Given the description of an element on the screen output the (x, y) to click on. 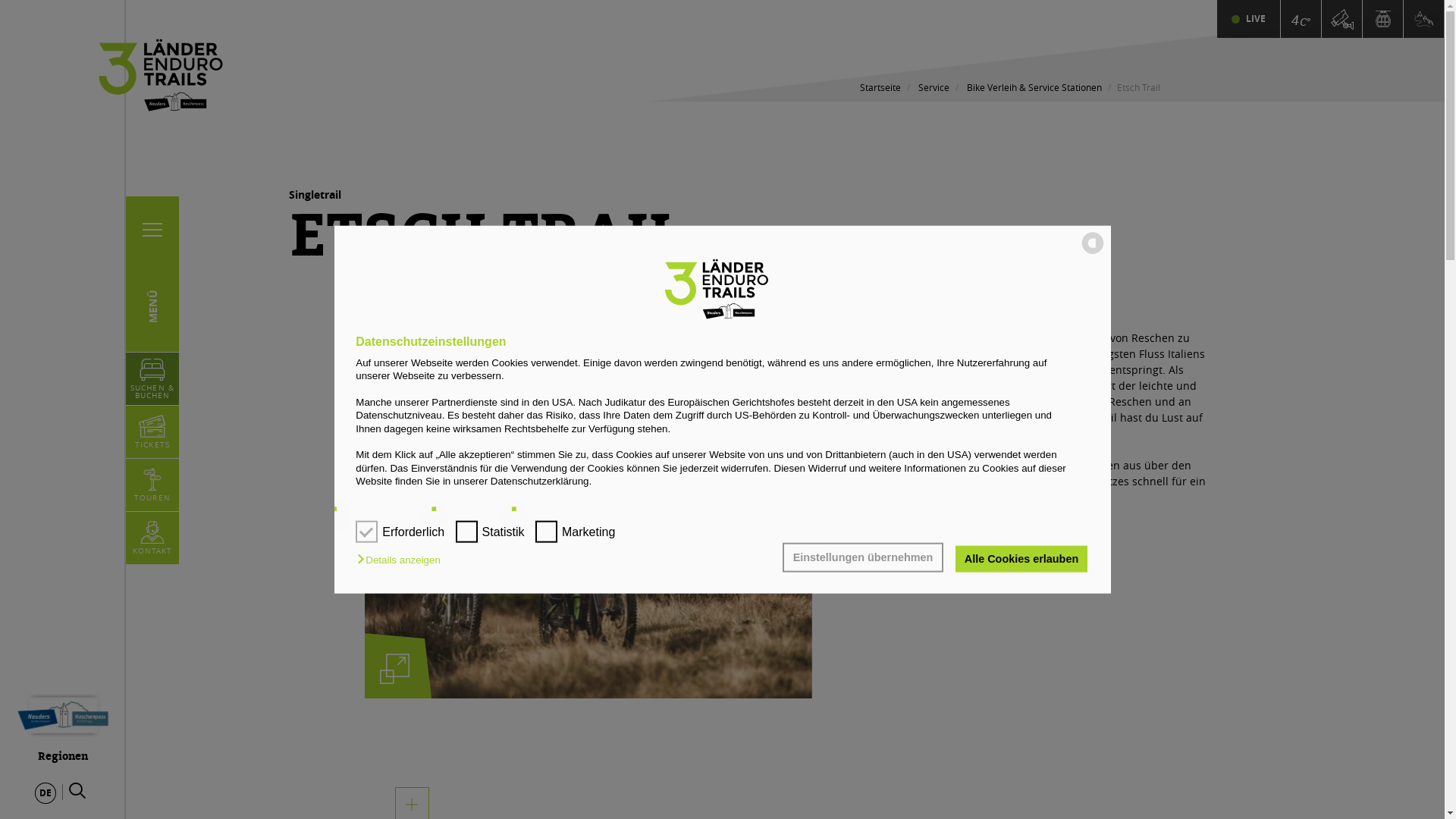
TICKETS Element type: text (151, 431)
Enduro Trails Element type: hover (1423, 18)
Startseite Element type: text (879, 87)
TOUREN Element type: text (152, 484)
Service Element type: text (932, 87)
powered by Datareporter Element type: hover (1092, 252)
Regionen Element type: text (62, 722)
Webcam Element type: hover (1341, 19)
SUCHEN & BUCHEN Element type: text (151, 378)
Alle Cookies erlauben Element type: text (1020, 558)
fullscreen Element type: hover (393, 668)
Gondel Element type: hover (1382, 18)
DE Element type: text (45, 792)
Bike Verleih & Service Stationen Element type: text (1033, 87)
Etsch Trail Element type: text (0, 0)
KONTAKT Element type: text (152, 537)
Details anzeigen Element type: text (401, 560)
